Given the description of an element on the screen output the (x, y) to click on. 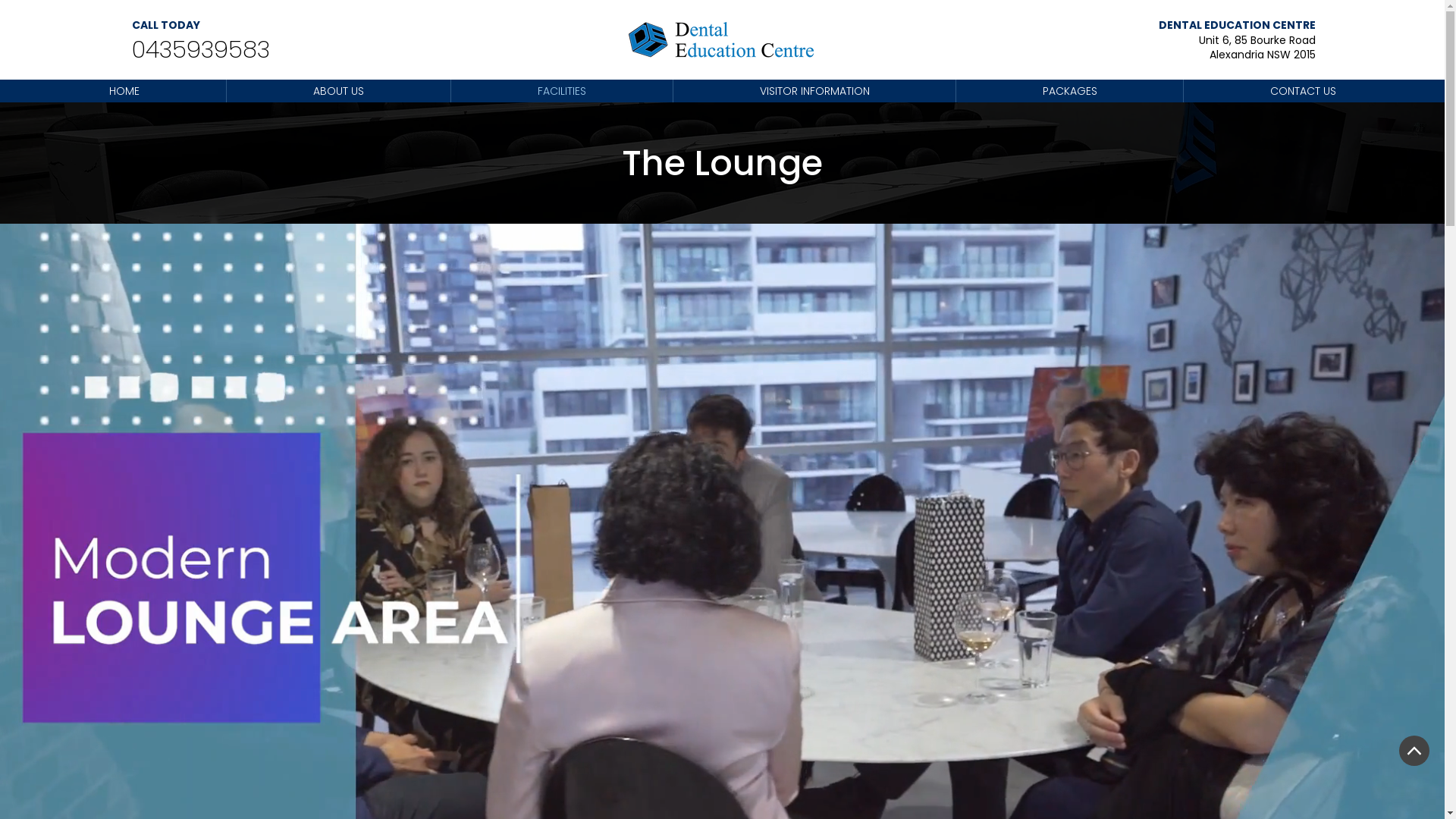
0435939583 Element type: text (204, 49)
HOME Element type: text (123, 90)
CONTACT US Element type: text (1302, 90)
VISITOR INFORMATION Element type: text (814, 90)
Back To Top Element type: hover (1414, 750)
ABOUT US Element type: text (338, 90)
FACILITIES Element type: text (561, 90)
PACKAGES Element type: text (1069, 90)
